Given the description of an element on the screen output the (x, y) to click on. 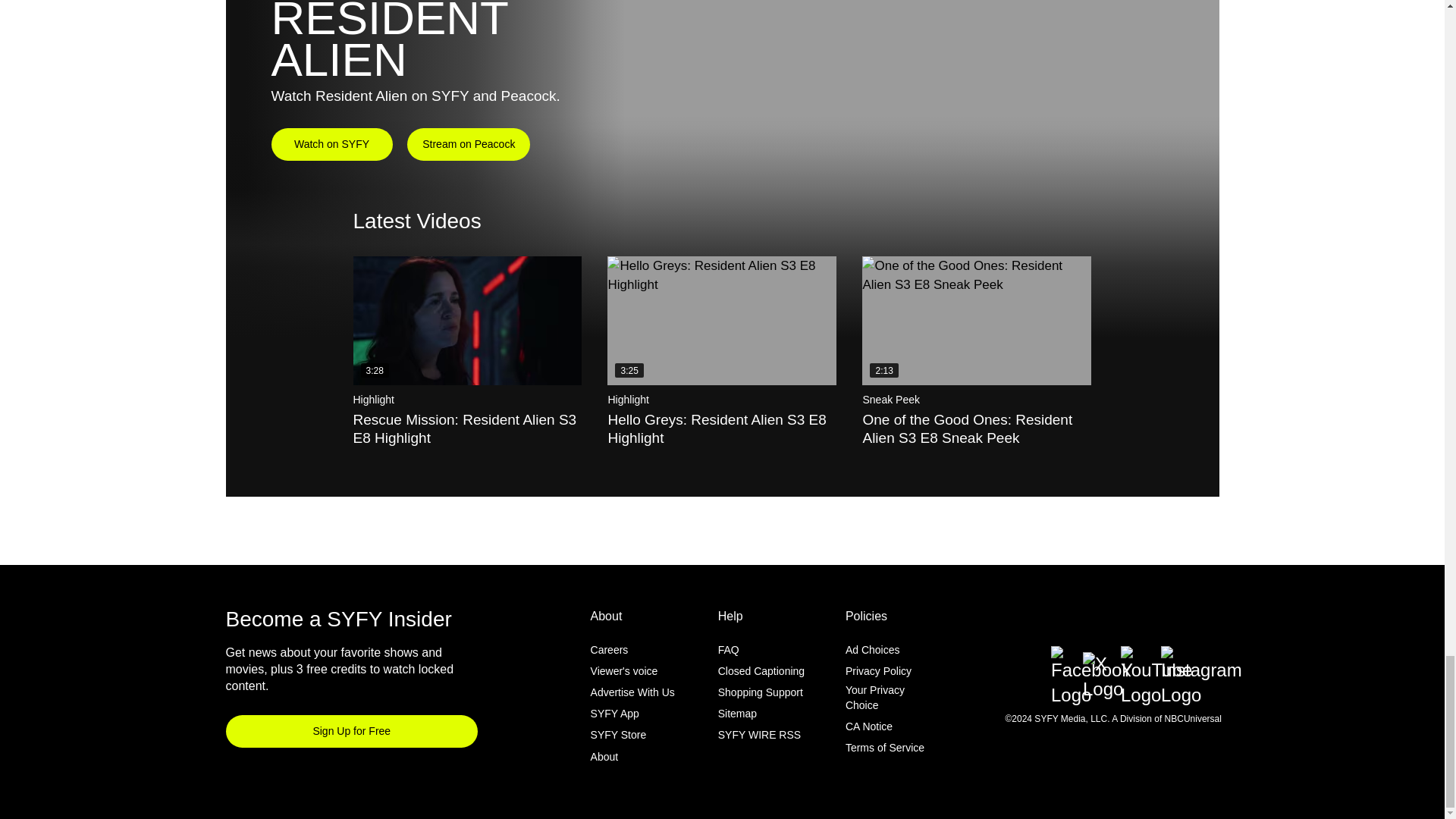
Rescue Mission: Resident Alien S3 E8 Highlight (467, 320)
One of the Good Ones: Resident Alien S3 E8 Sneak Peek (975, 320)
Advertise With Us (633, 692)
Hello Greys: Resident Alien S3 E8 Highlight (721, 320)
